Given the description of an element on the screen output the (x, y) to click on. 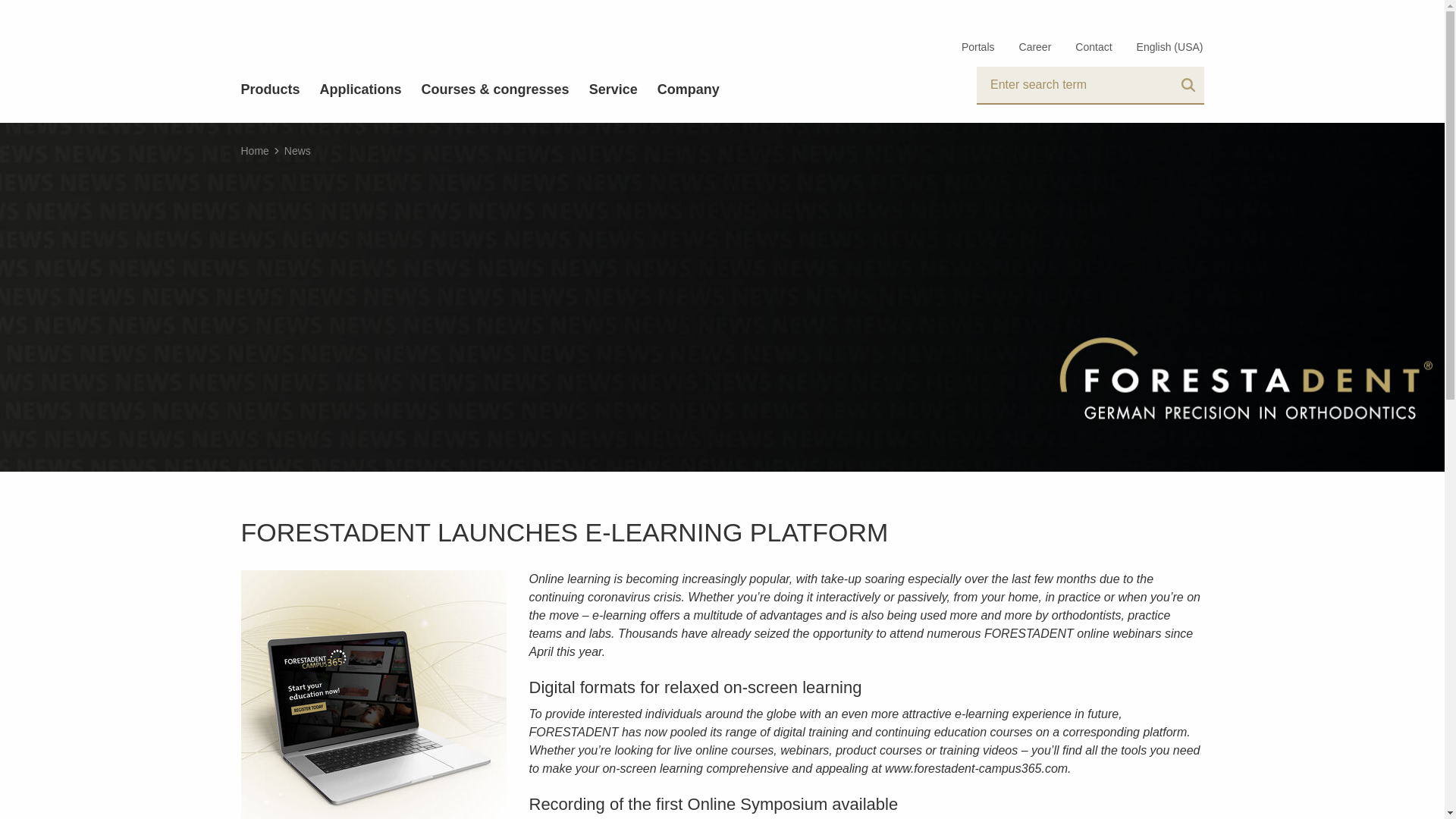
Applications (360, 89)
Portals (978, 46)
Products (270, 89)
Home (262, 150)
Career (1035, 46)
Contact (1093, 46)
